Given the description of an element on the screen output the (x, y) to click on. 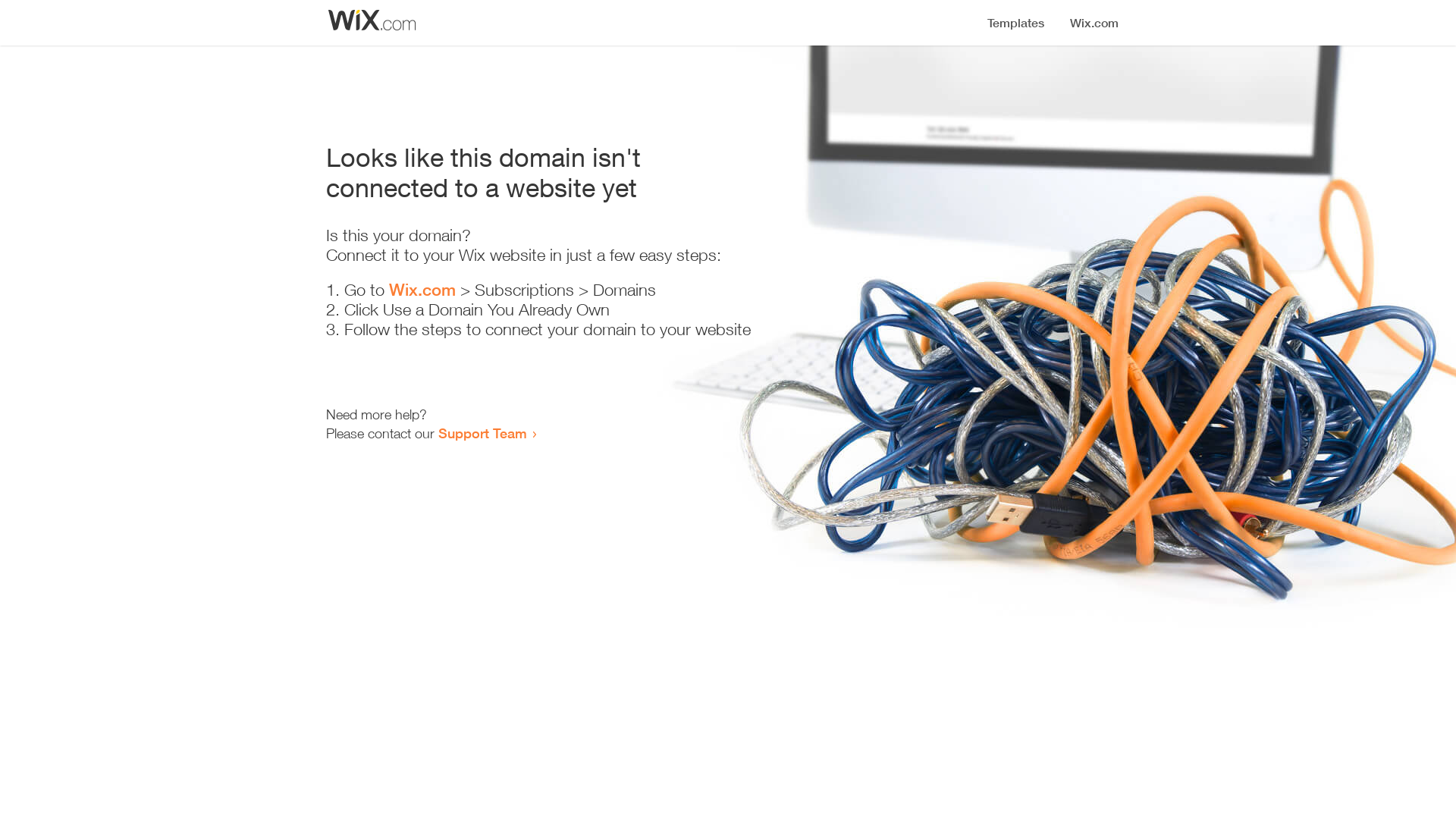
Wix.com Element type: text (422, 289)
Support Team Element type: text (482, 432)
